Given the description of an element on the screen output the (x, y) to click on. 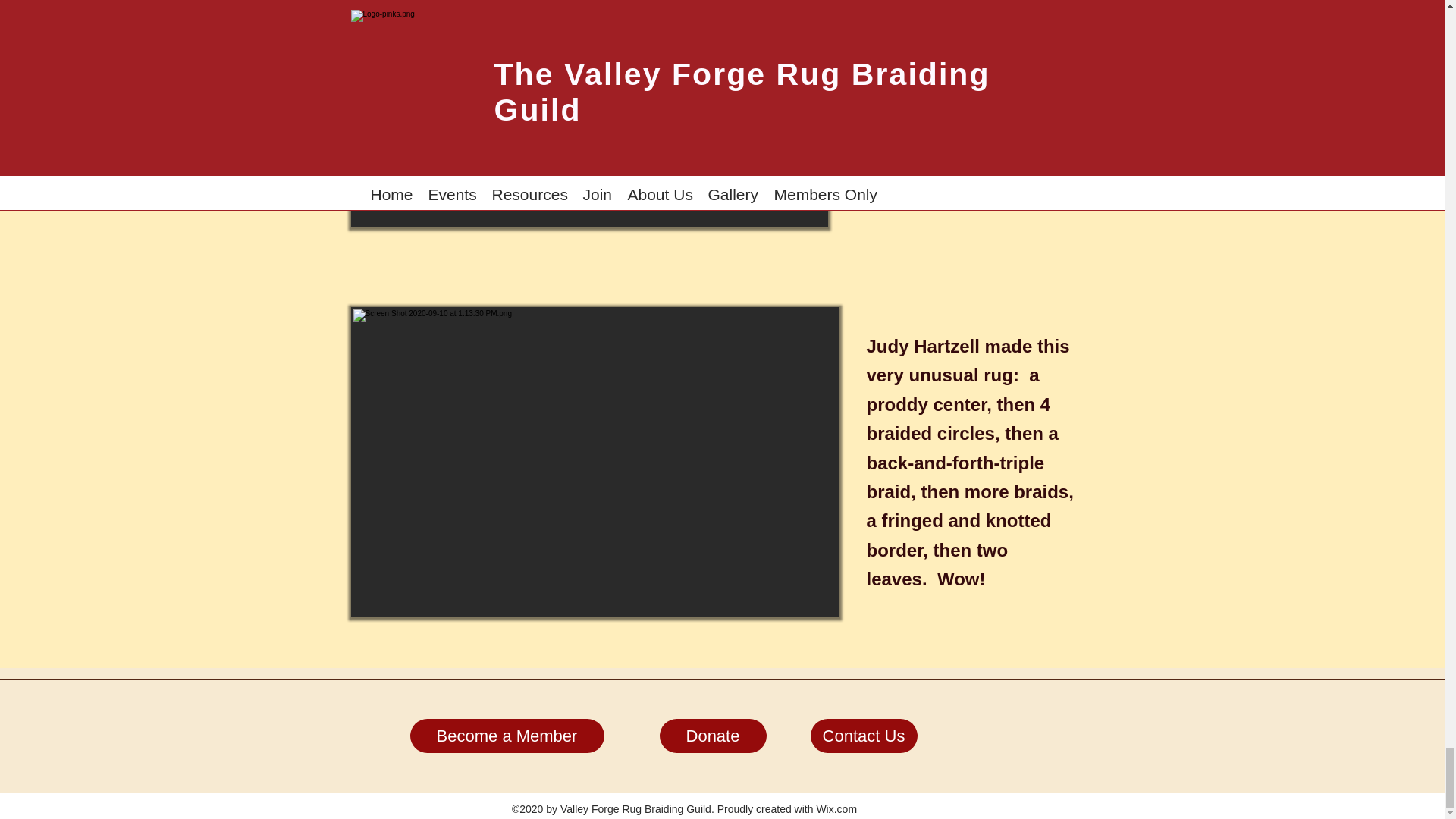
Become a Member (506, 735)
Donate (713, 735)
Contact Us (863, 735)
